Given the description of an element on the screen output the (x, y) to click on. 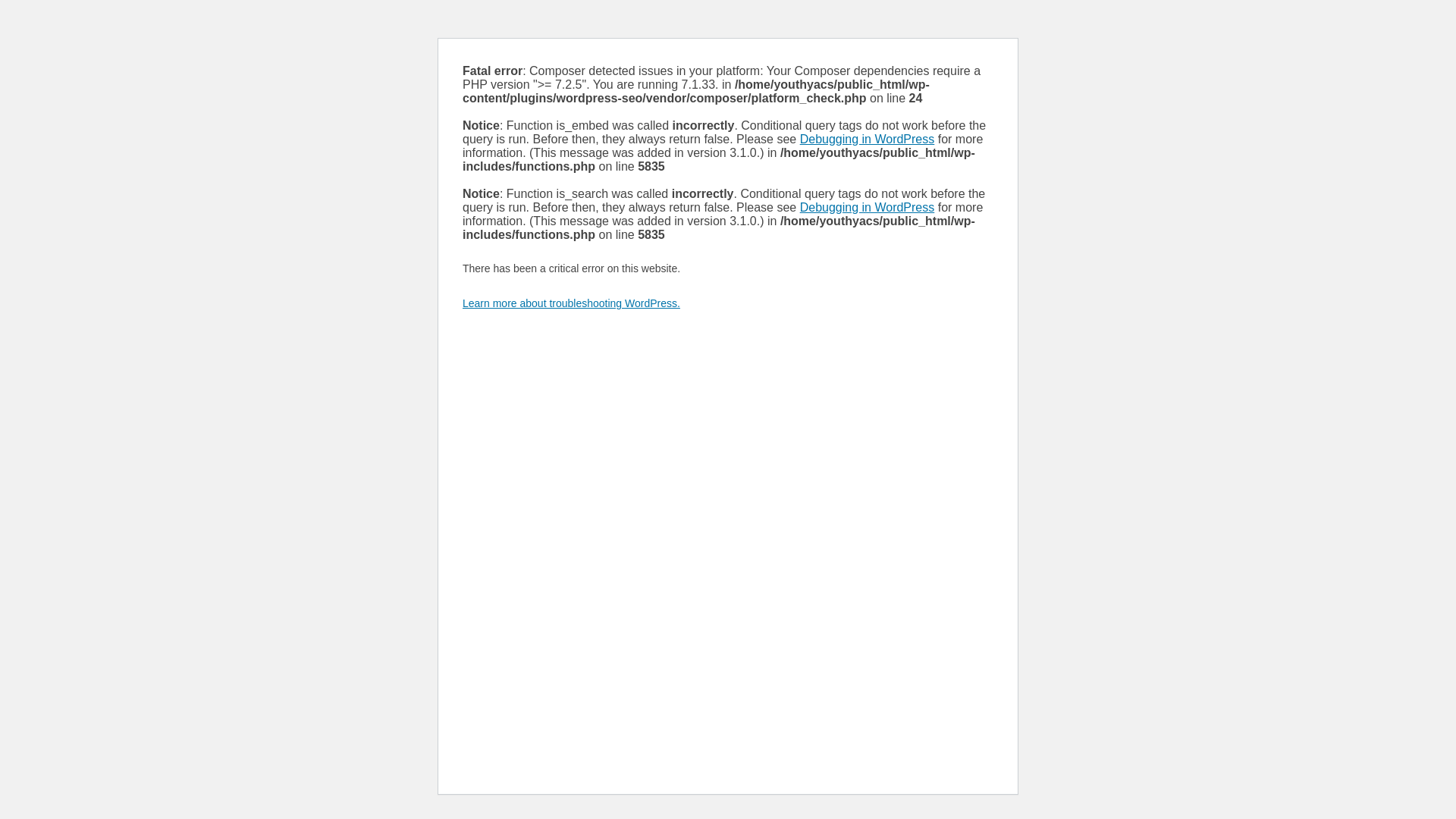
Debugging in WordPress Element type: text (867, 206)
Learn more about troubleshooting WordPress. Element type: text (571, 303)
Debugging in WordPress Element type: text (867, 138)
